Given the description of an element on the screen output the (x, y) to click on. 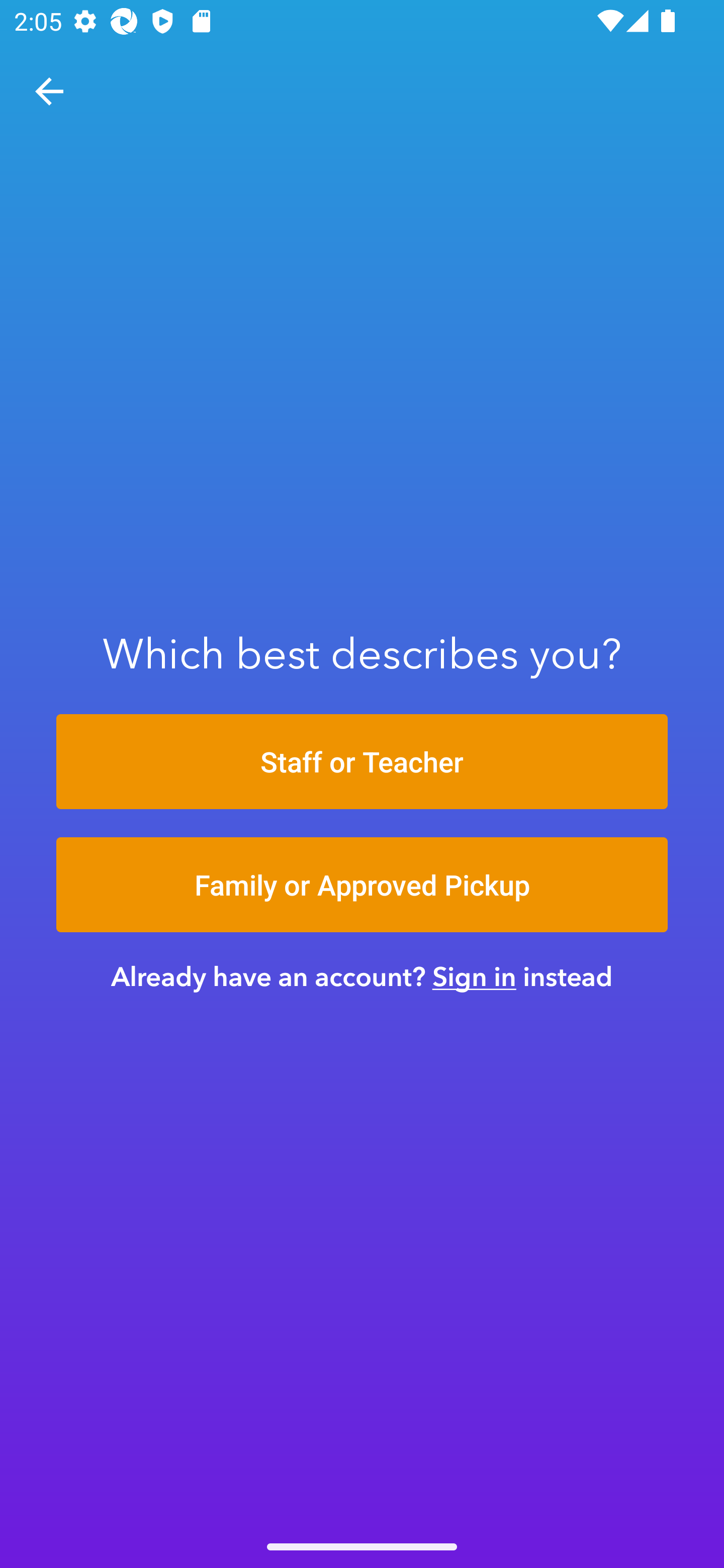
Navigate up (49, 91)
Staff or Teacher (361, 761)
Family or Approved Pickup (361, 884)
Already have an account? Sign in instead (361, 975)
